Given the description of an element on the screen output the (x, y) to click on. 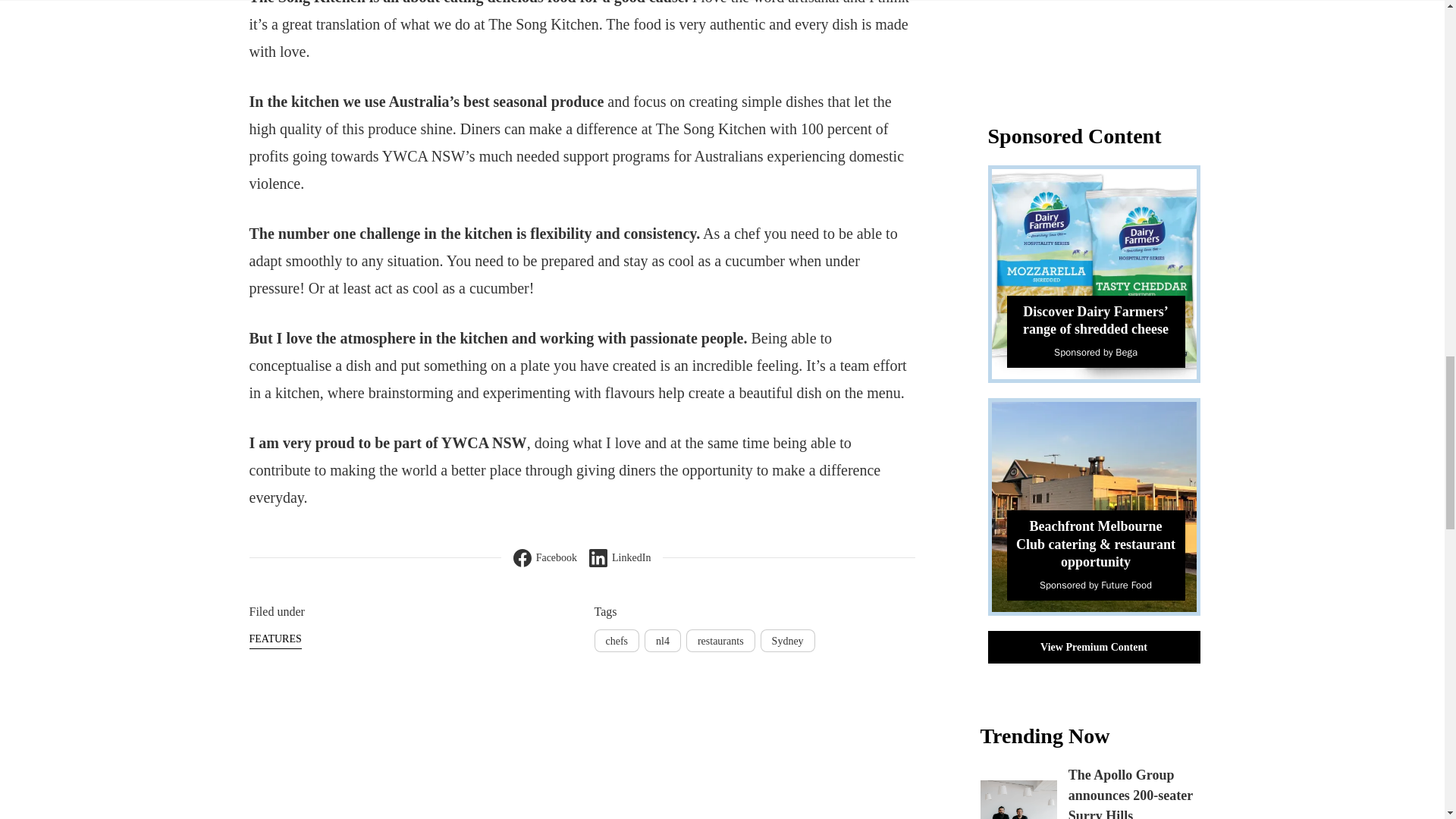
nl4 (663, 640)
restaurants (720, 640)
FEATURES (274, 639)
Sydney (787, 640)
LinkedIn (619, 557)
The Apollo Group announces 200-seater Surry Hills restaurant (1130, 793)
3rd party ad content (1100, 43)
chefs (617, 640)
The Apollo Group announces 200-seater Surry Hills restaurant (1018, 799)
Facebook (544, 557)
